Given the description of an element on the screen output the (x, y) to click on. 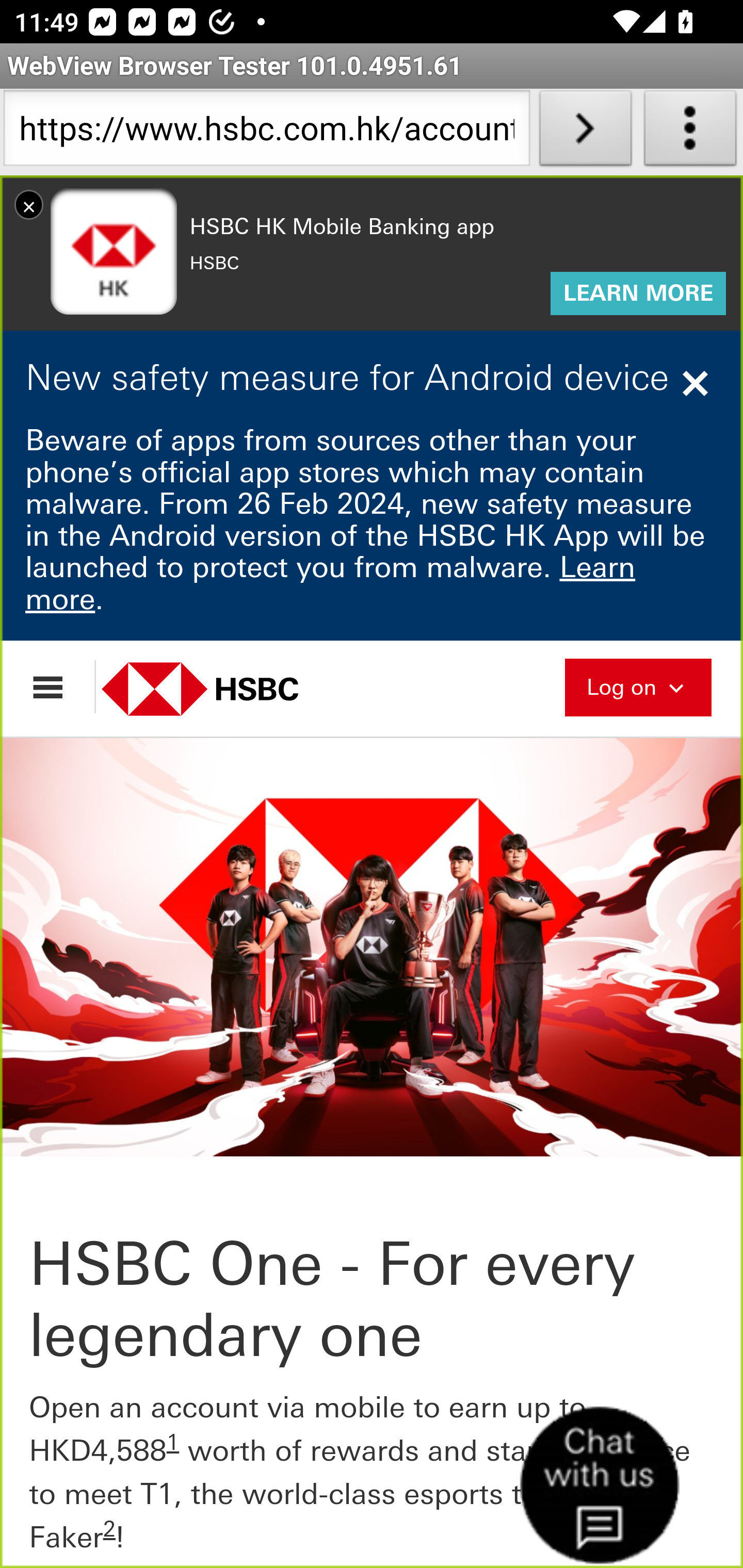
Load URL (585, 132)
About WebView (690, 132)
X (29, 204)
LEARN MORE (638, 293)
Close (697, 382)
Learn more (331, 582)
Log on Collapsed (638, 685)
Open menu (57, 686)
HSBC Hong Kong Bank (221, 688)
Footnote link 1 (173, 1442)
Footnote link 2 (109, 1529)
